Given the description of an element on the screen output the (x, y) to click on. 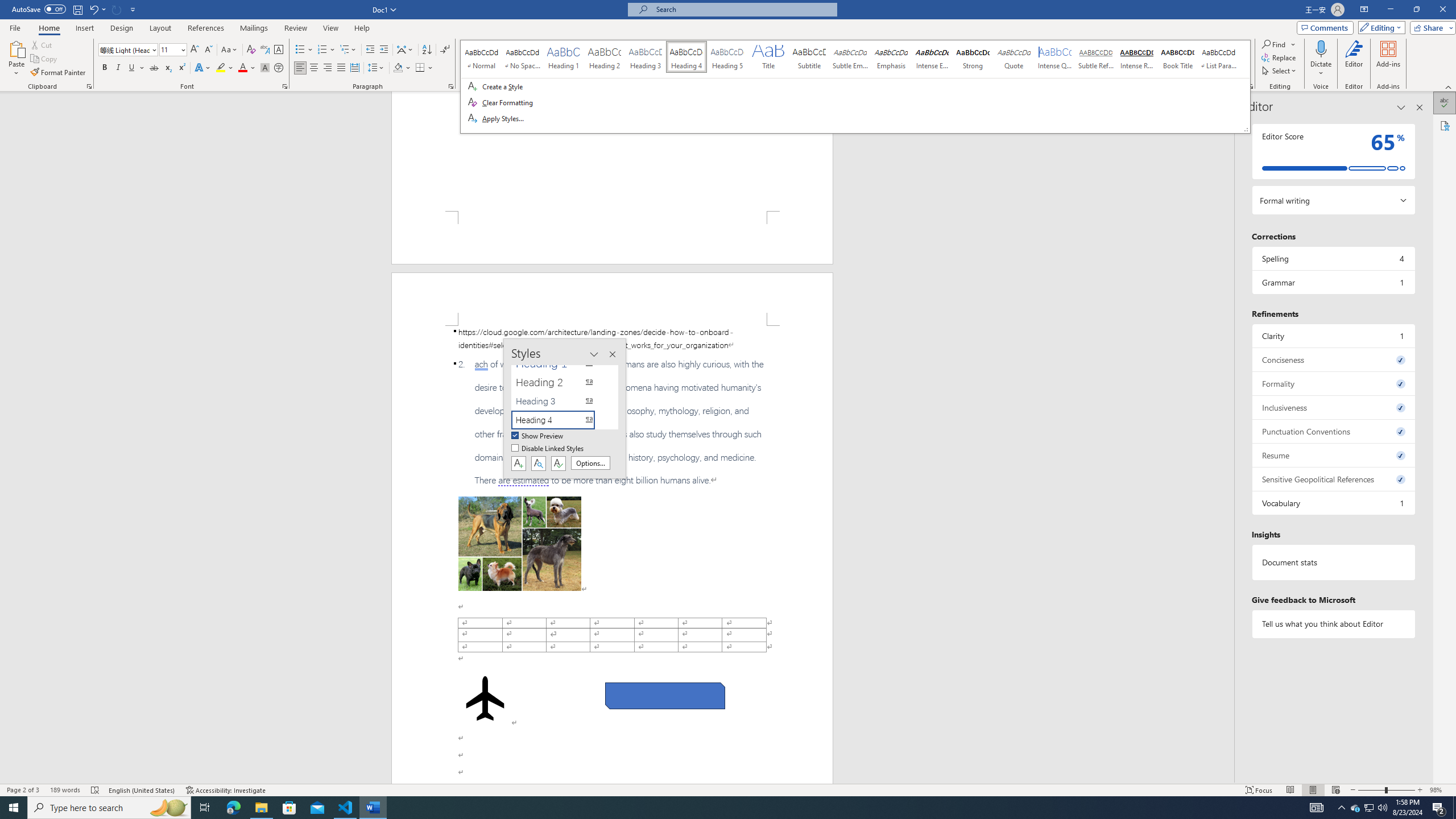
Running applications (717, 807)
Editing (1379, 27)
Page 2 content (611, 554)
Search highlights icon opens search home window (167, 807)
Heading 4 (559, 419)
